Given the description of an element on the screen output the (x, y) to click on. 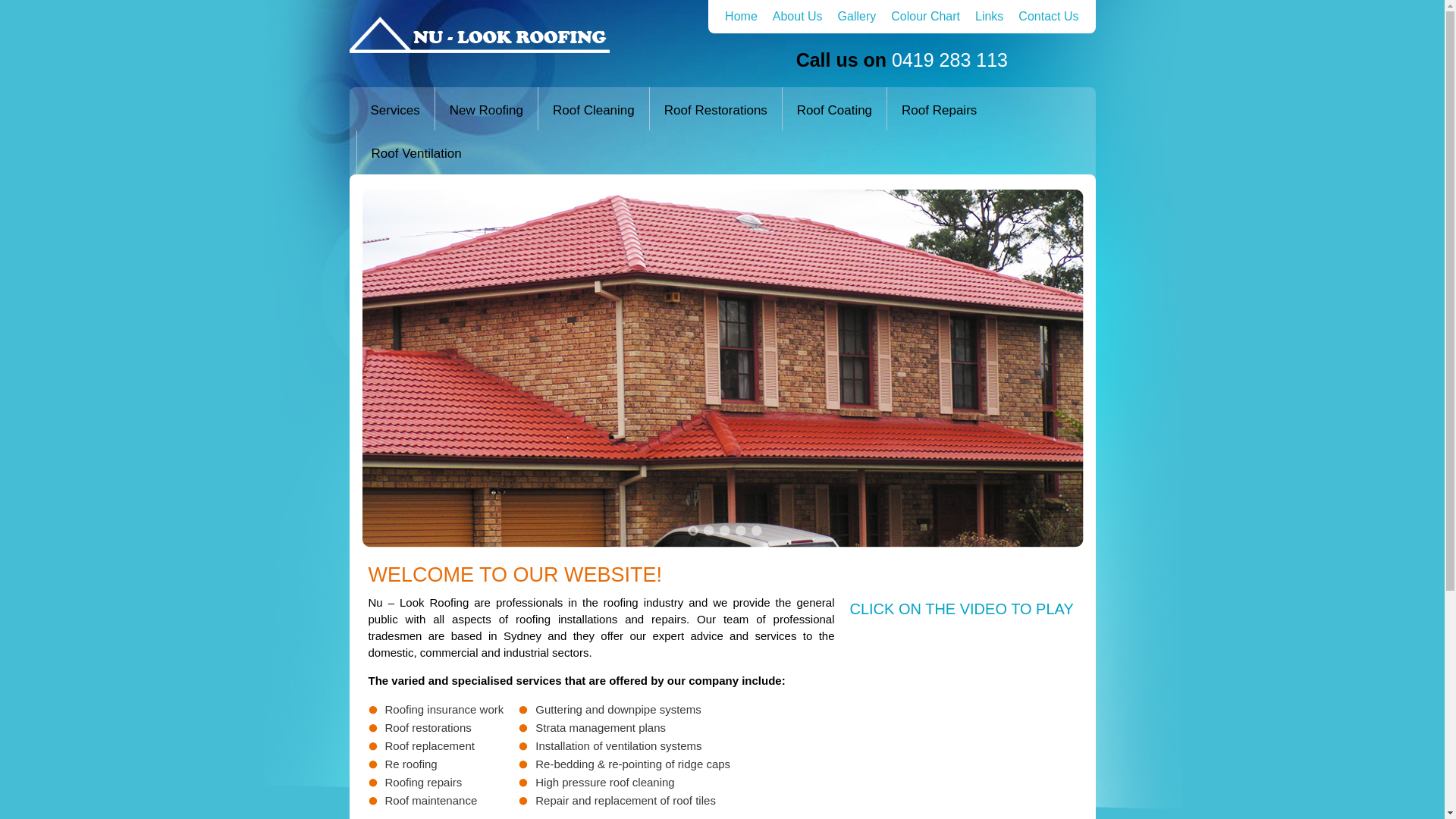
Gallery Element type: text (856, 15)
Roof Restorations Element type: text (715, 109)
2 Element type: text (708, 530)
About Us Element type: text (797, 15)
Links Element type: text (989, 15)
1 Element type: text (692, 530)
Services Element type: text (395, 109)
Colour Chart Element type: text (925, 15)
Roof Coating Element type: text (834, 109)
4 Element type: text (740, 530)
New Roofing Element type: text (486, 109)
Roof Ventilation Element type: text (415, 152)
slider1 Element type: hover (722, 368)
Roof Cleaning Element type: text (593, 109)
Roof Repairs Element type: text (939, 109)
3 Element type: text (724, 530)
Home Element type: text (740, 15)
Contact Us Element type: text (1048, 15)
5 Element type: text (756, 530)
